Given the description of an element on the screen output the (x, y) to click on. 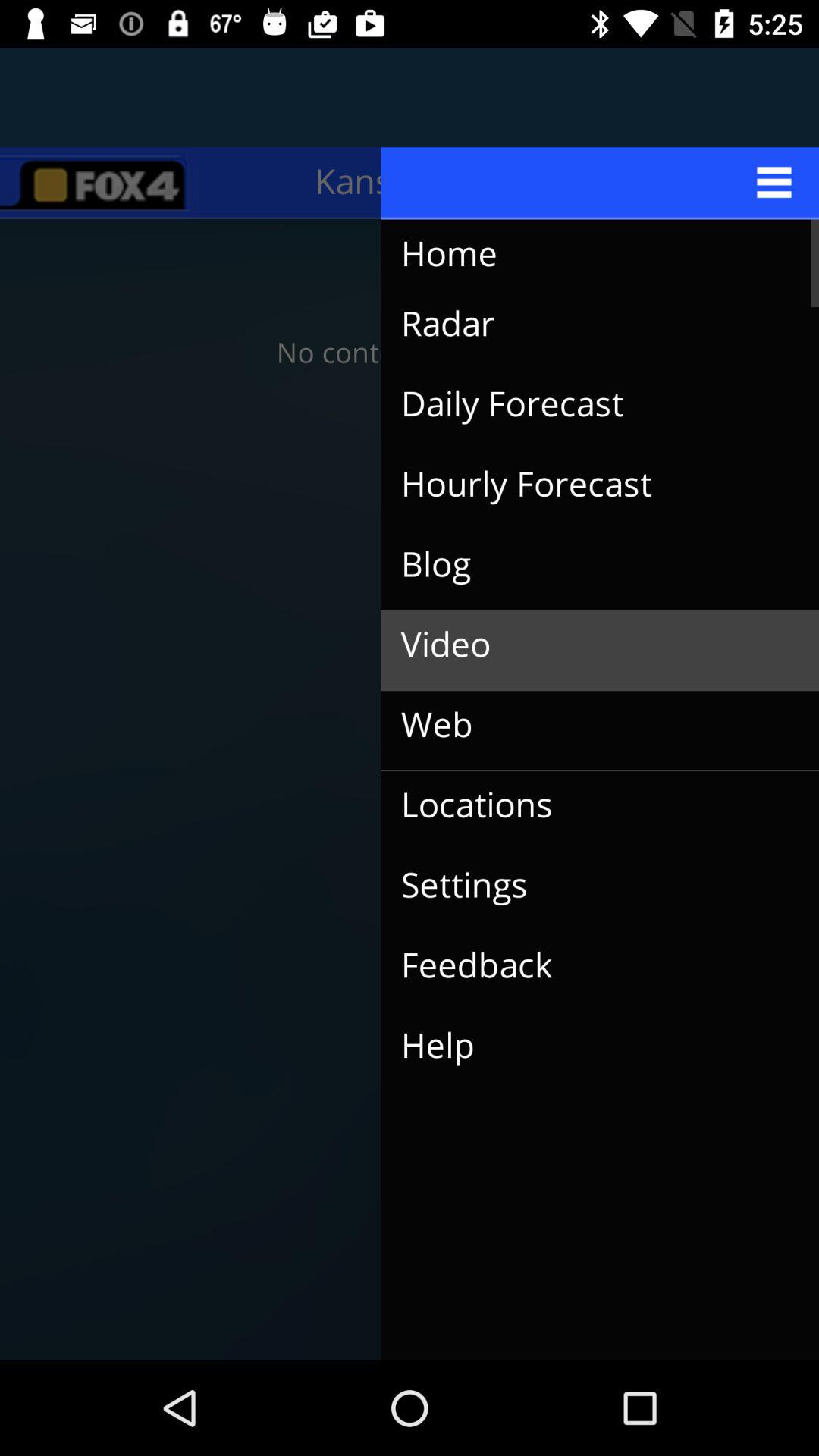
select a menu option on a page (600, 183)
